Given the description of an element on the screen output the (x, y) to click on. 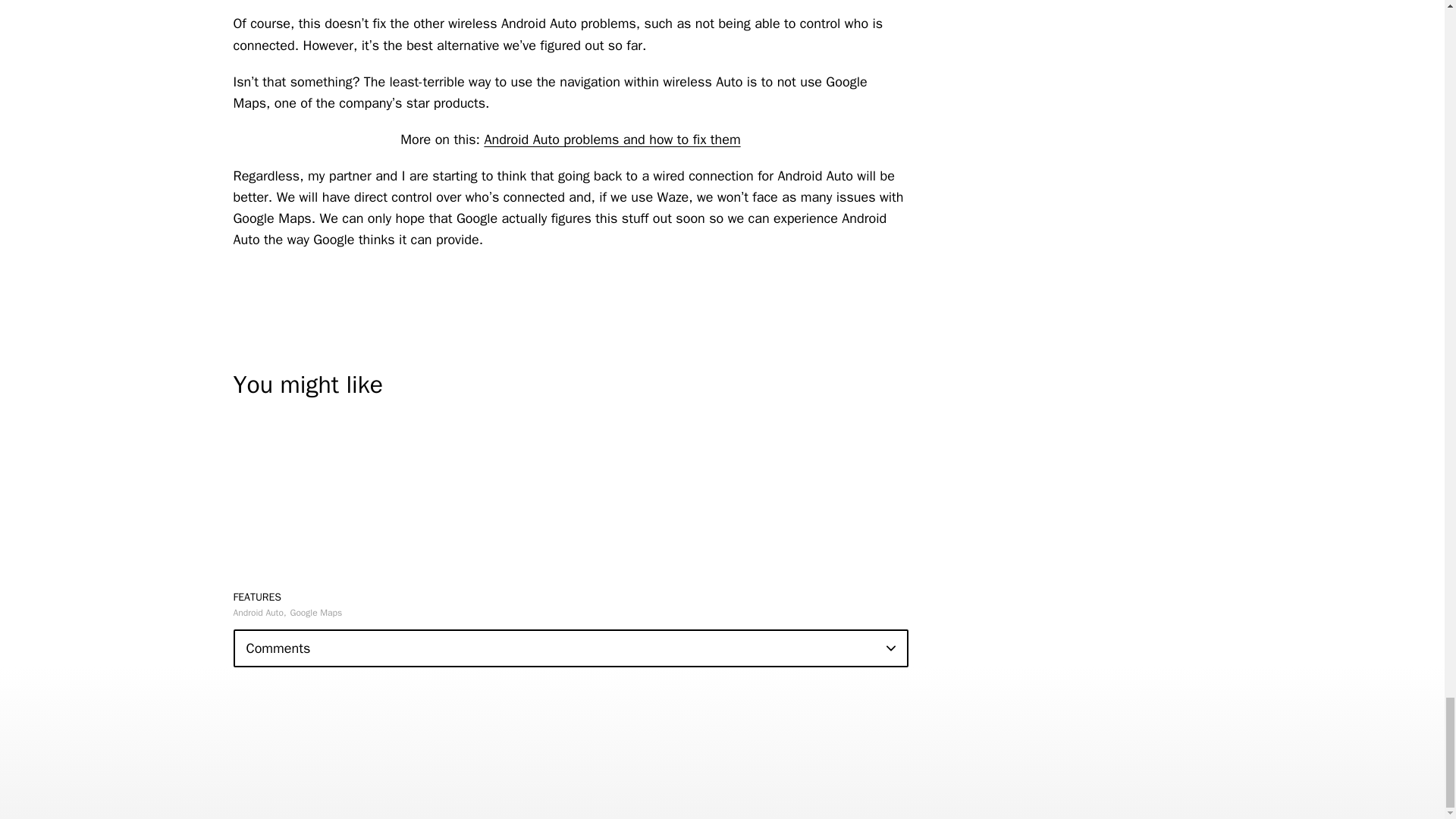
Android Auto (259, 612)
FEATURES (257, 596)
Google Maps (315, 612)
Android Auto problems and how to fix them (611, 139)
Comments (570, 648)
